Given the description of an element on the screen output the (x, y) to click on. 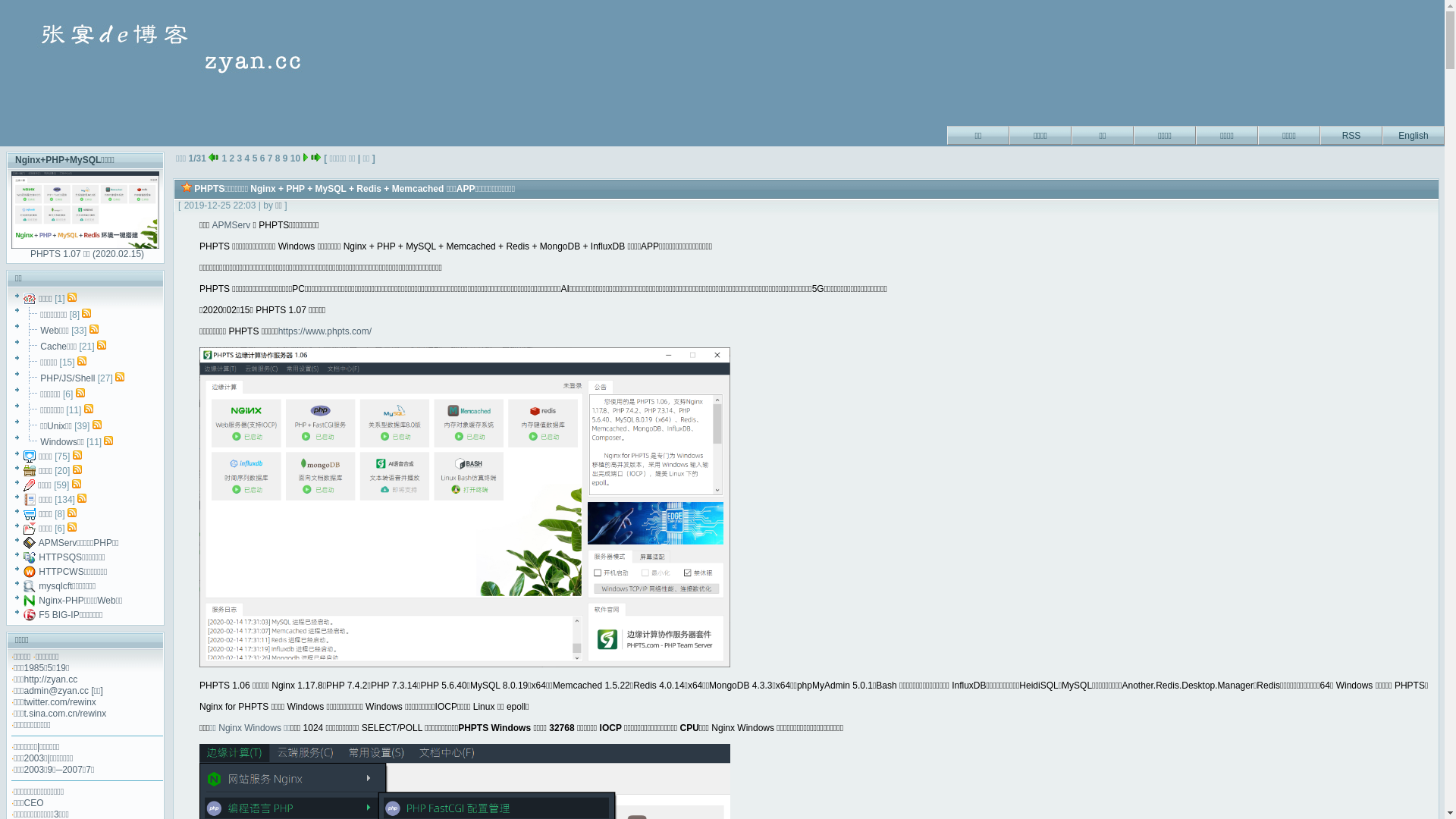
7 Element type: text (270, 158)
twitter.com/rewinx Element type: text (60, 701)
http://zyan.cc Element type: text (51, 679)
6 Element type: text (262, 158)
PHP/JS/Shell Element type: text (67, 378)
4 Element type: text (247, 158)
3 Element type: text (239, 158)
APMServ Element type: text (230, 224)
English Element type: text (1413, 133)
RSS Element type: text (1351, 133)
8 Element type: text (277, 158)
10 Element type: text (295, 158)
2 Element type: text (232, 158)
5 Element type: text (254, 158)
t.sina.com.cn/rewinx Element type: text (65, 713)
9 Element type: text (285, 158)
https://www.phpts.com/ Element type: text (324, 331)
